Given the description of an element on the screen output the (x, y) to click on. 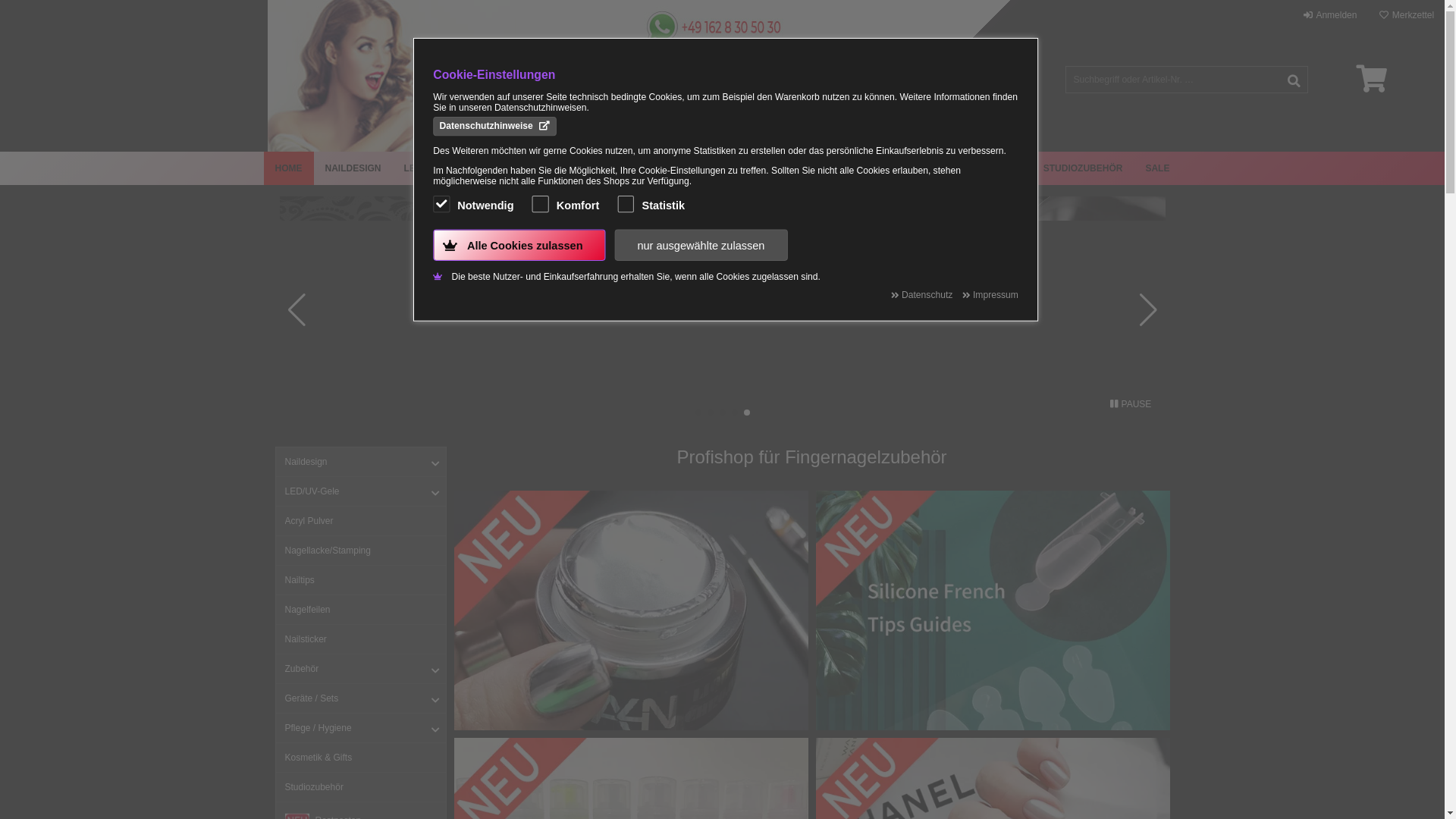
HOME Element type: text (288, 168)
LED/UV-Gele Element type: text (360, 491)
SALE Element type: text (1156, 168)
Pflege / Hygiene Element type: text (360, 728)
aktive4Nails - Home Element type: hover (395, 67)
Anmelden Element type: text (1330, 14)
PAUSE Element type: text (1130, 403)
Zu Ihrem Warenkorb Element type: hover (1370, 78)
ACRYL PULVER Element type: text (522, 168)
Nagelfeilen Element type: text (360, 609)
NAGELFEILEN Element type: text (611, 168)
Merkzettel Element type: text (1406, 14)
KOSMETIK & GIFTS Element type: text (977, 168)
Suche starten Element type: hover (1293, 79)
Nagellacke/Stamping Element type: text (360, 550)
Kosmetik & Gifts Element type: text (360, 757)
Nailtips Element type: text (360, 580)
Acryl Pulver Element type: text (360, 521)
NAILDESIGN Element type: text (352, 168)
LED/UV-GELE Element type: text (434, 168)
Naildesign Element type: text (360, 461)
PFLEGE / HYGIENE Element type: text (868, 168)
Nailsticker Element type: text (360, 639)
